Given the description of an element on the screen output the (x, y) to click on. 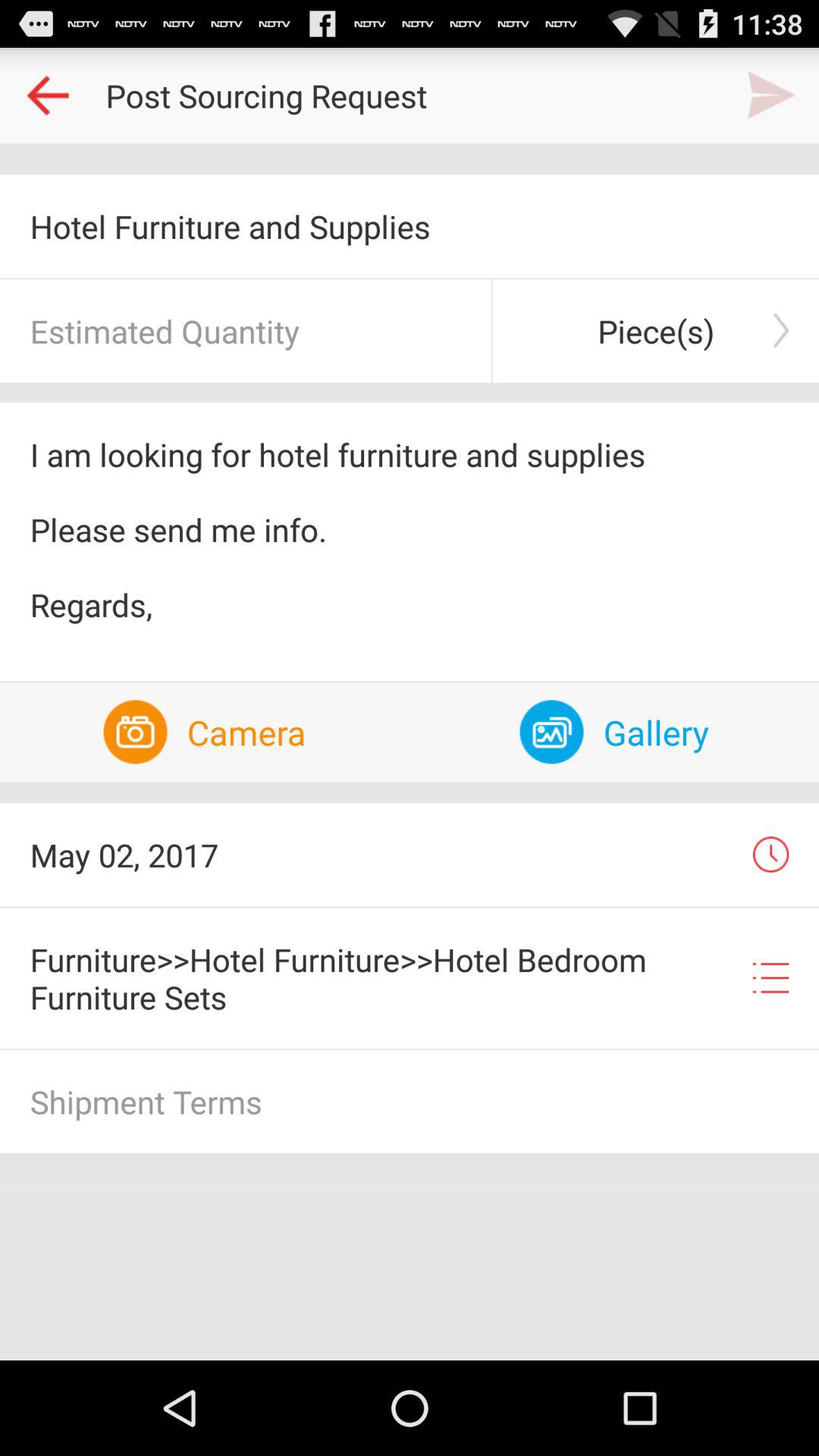
see shipment terns (409, 1101)
